Given the description of an element on the screen output the (x, y) to click on. 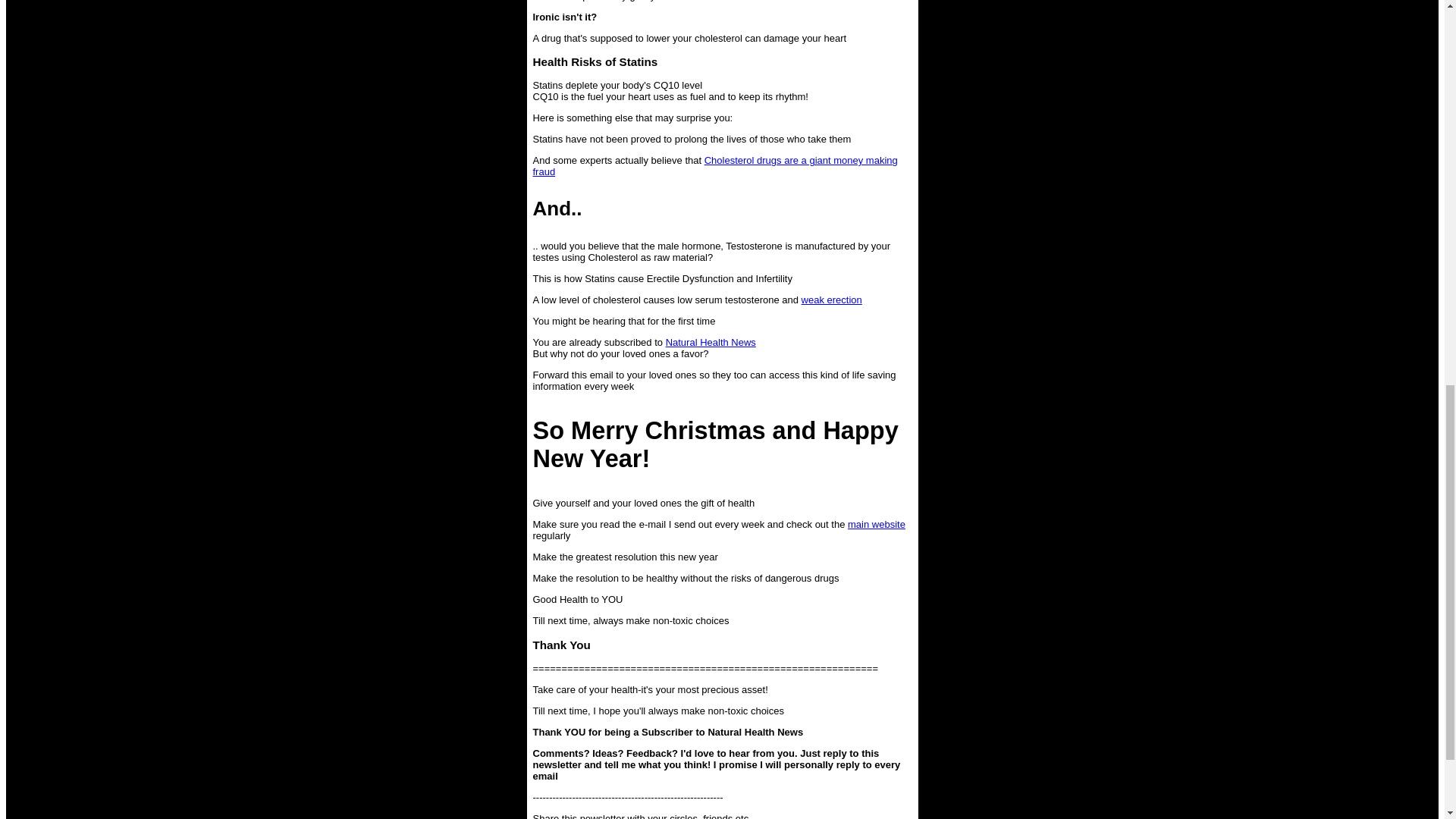
weak erection (831, 299)
Natural Health News (710, 342)
main website (876, 523)
Cholesterol drugs are a giant money making fraud (714, 165)
